Given the description of an element on the screen output the (x, y) to click on. 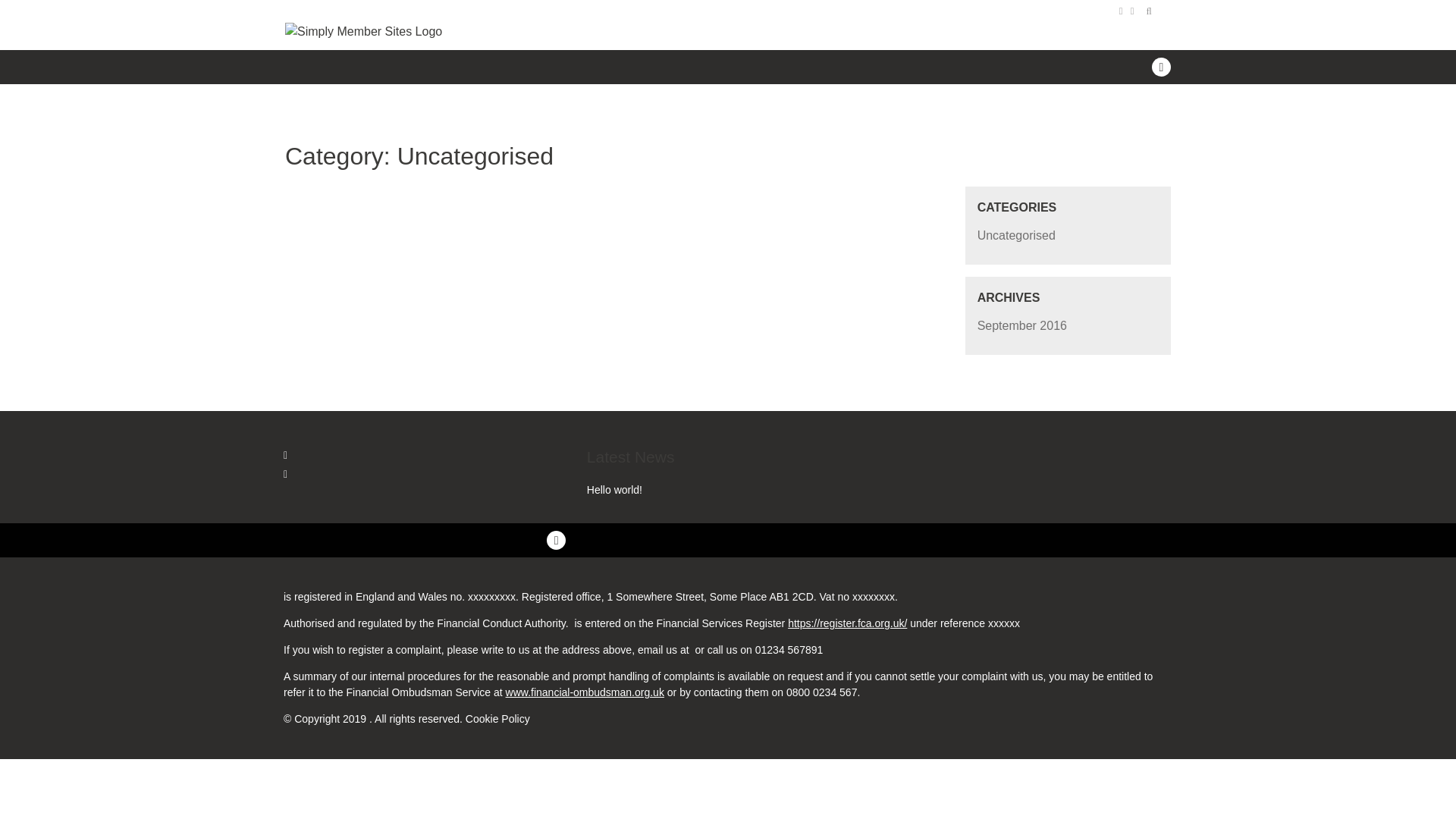
Uncategorised (1015, 235)
September 2016 (1021, 325)
Hello world! (614, 490)
www.financial-ombudsman.org.uk (584, 692)
